Given the description of an element on the screen output the (x, y) to click on. 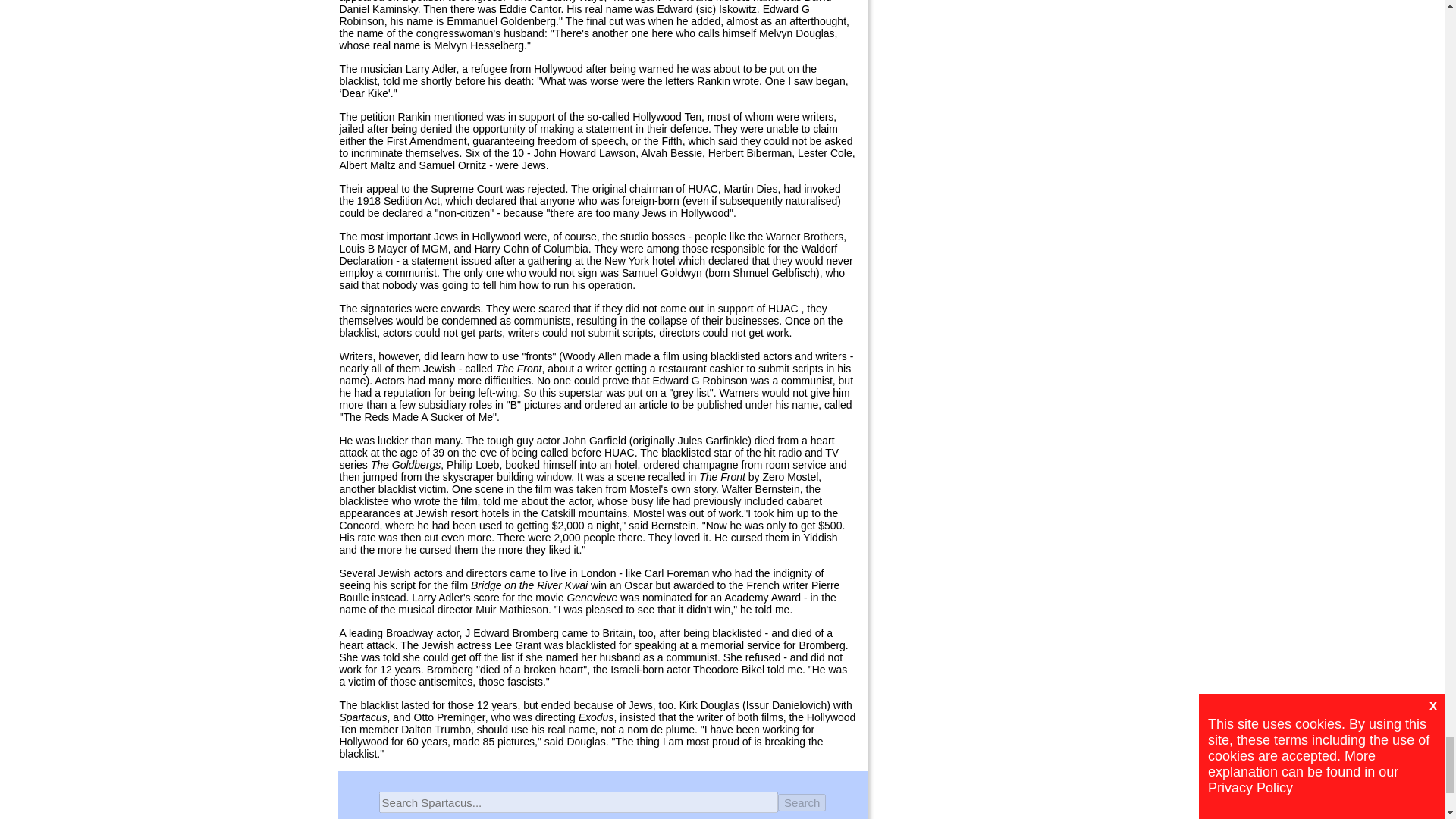
Search (802, 801)
